Given the description of an element on the screen output the (x, y) to click on. 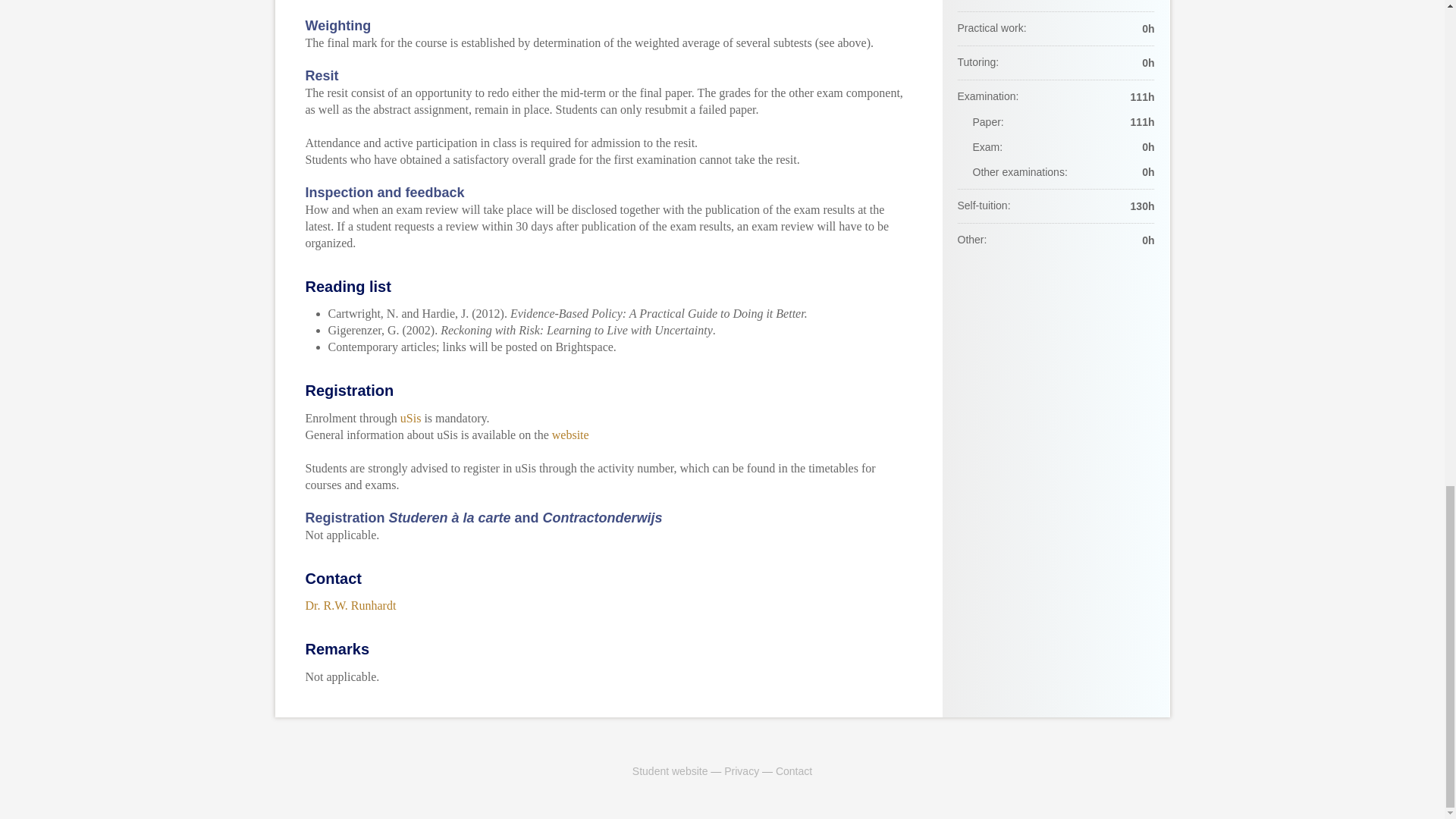
website (570, 434)
uSis (411, 418)
Dr. R.W. Runhardt (350, 604)
Privacy (740, 770)
Student website (669, 770)
Contact (794, 770)
